Given the description of an element on the screen output the (x, y) to click on. 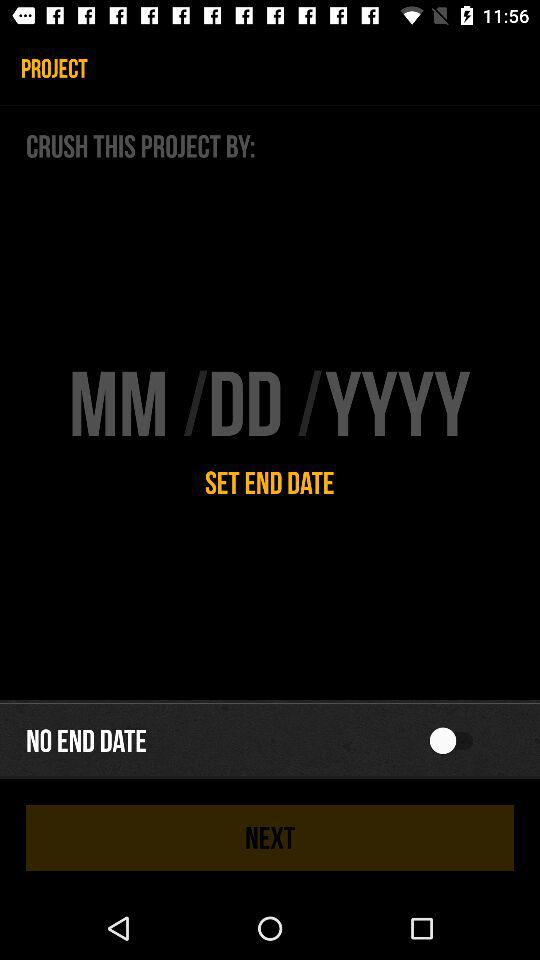
flip until the next item (269, 837)
